Given the description of an element on the screen output the (x, y) to click on. 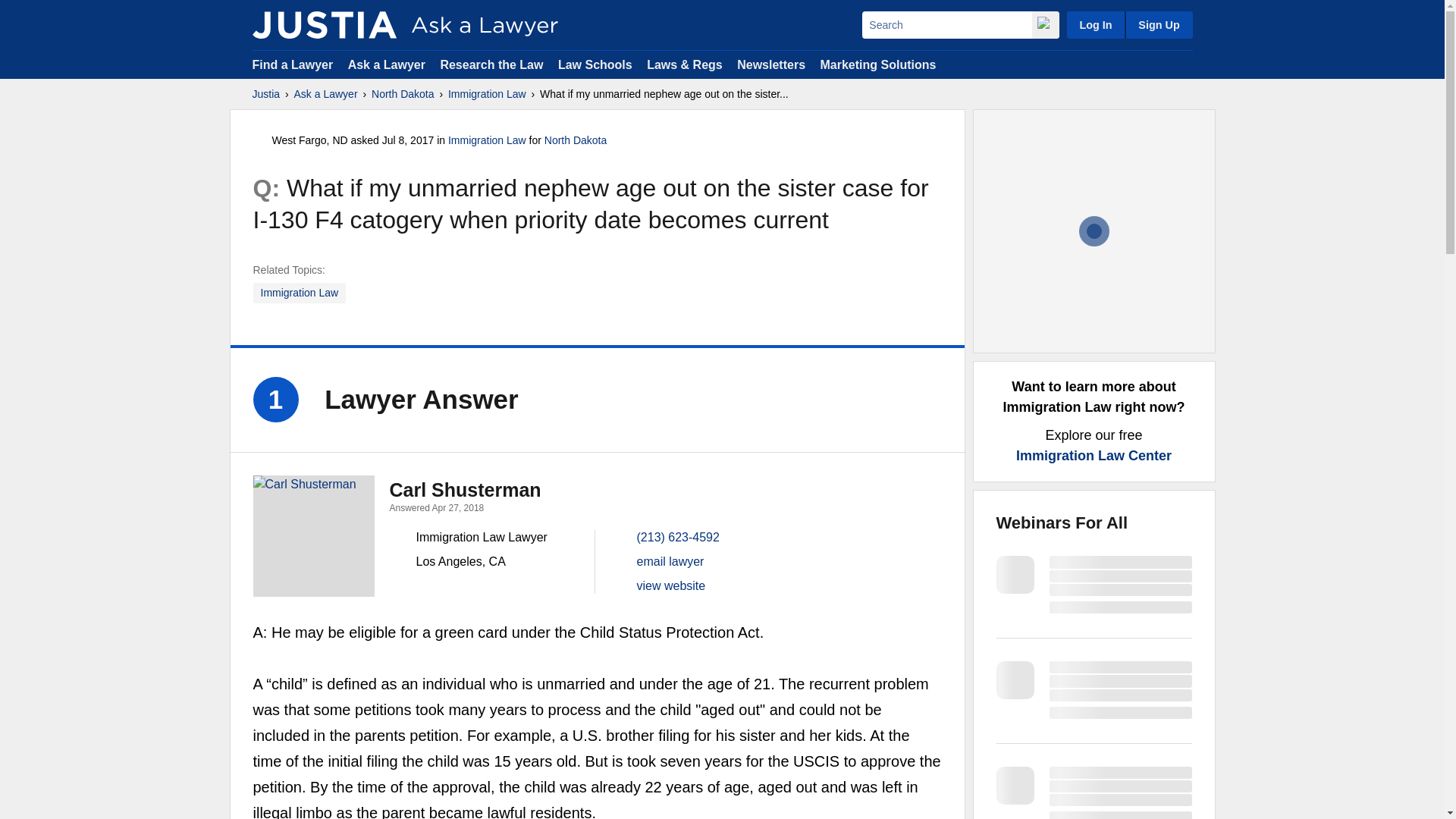
Immigration Law (486, 93)
Carl Shusterman (313, 536)
Log In (1094, 24)
2017-07-08T13:37:29-07:00 (407, 140)
email lawyer (670, 561)
Find a Lawyer (292, 64)
Immigration Law (299, 292)
Research the Law (491, 64)
Ask a Lawyer (388, 64)
Sign Up (1158, 24)
